Given the description of an element on the screen output the (x, y) to click on. 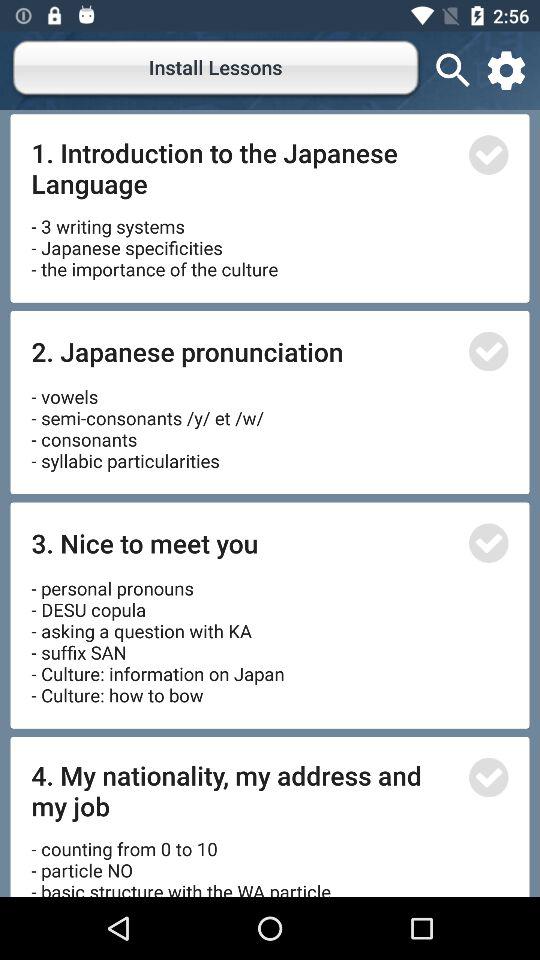
select option (488, 777)
